Given the description of an element on the screen output the (x, y) to click on. 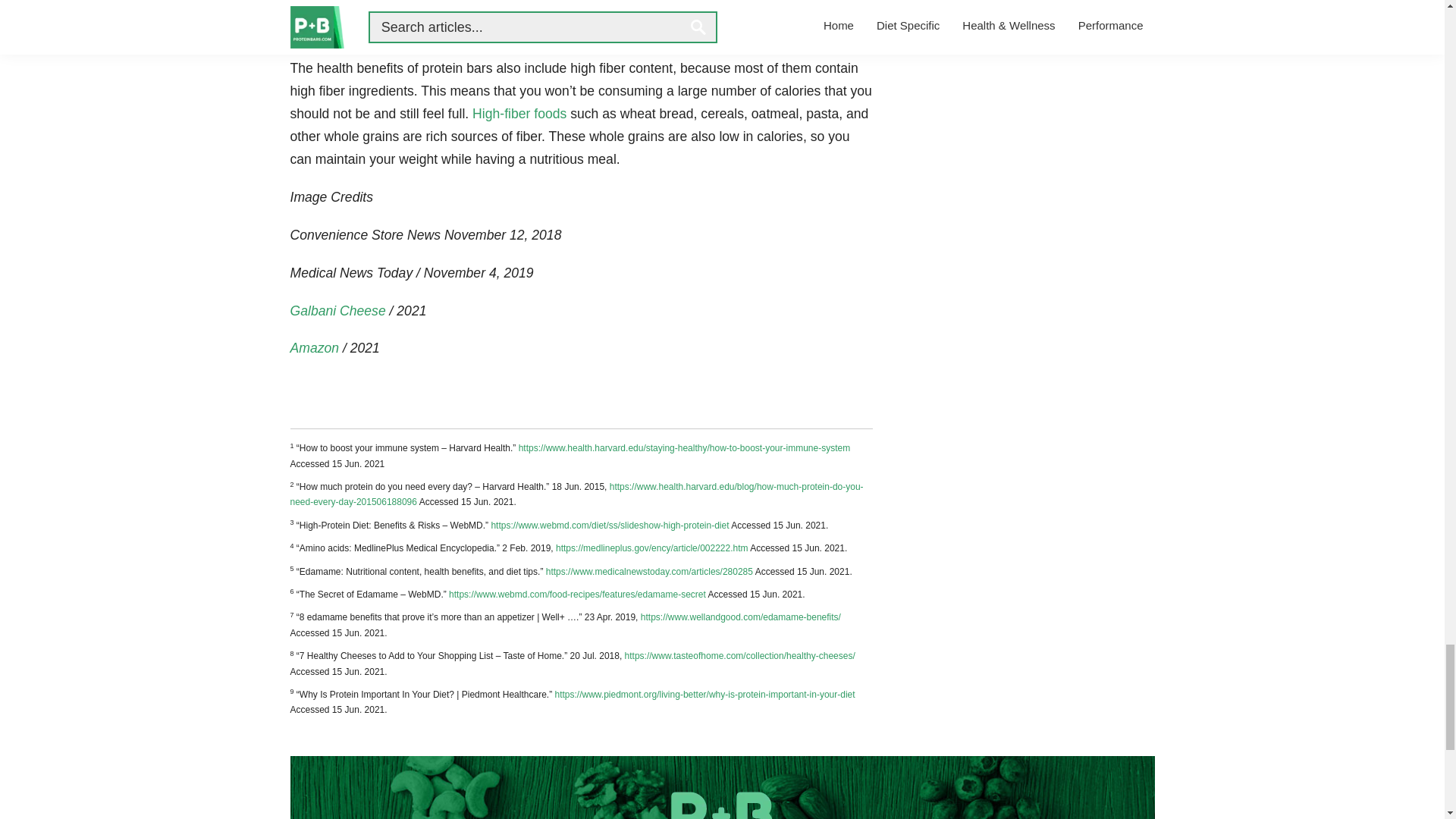
Amazon (314, 347)
Galbani Cheese (338, 310)
High-fiber foods (518, 113)
